Given the description of an element on the screen output the (x, y) to click on. 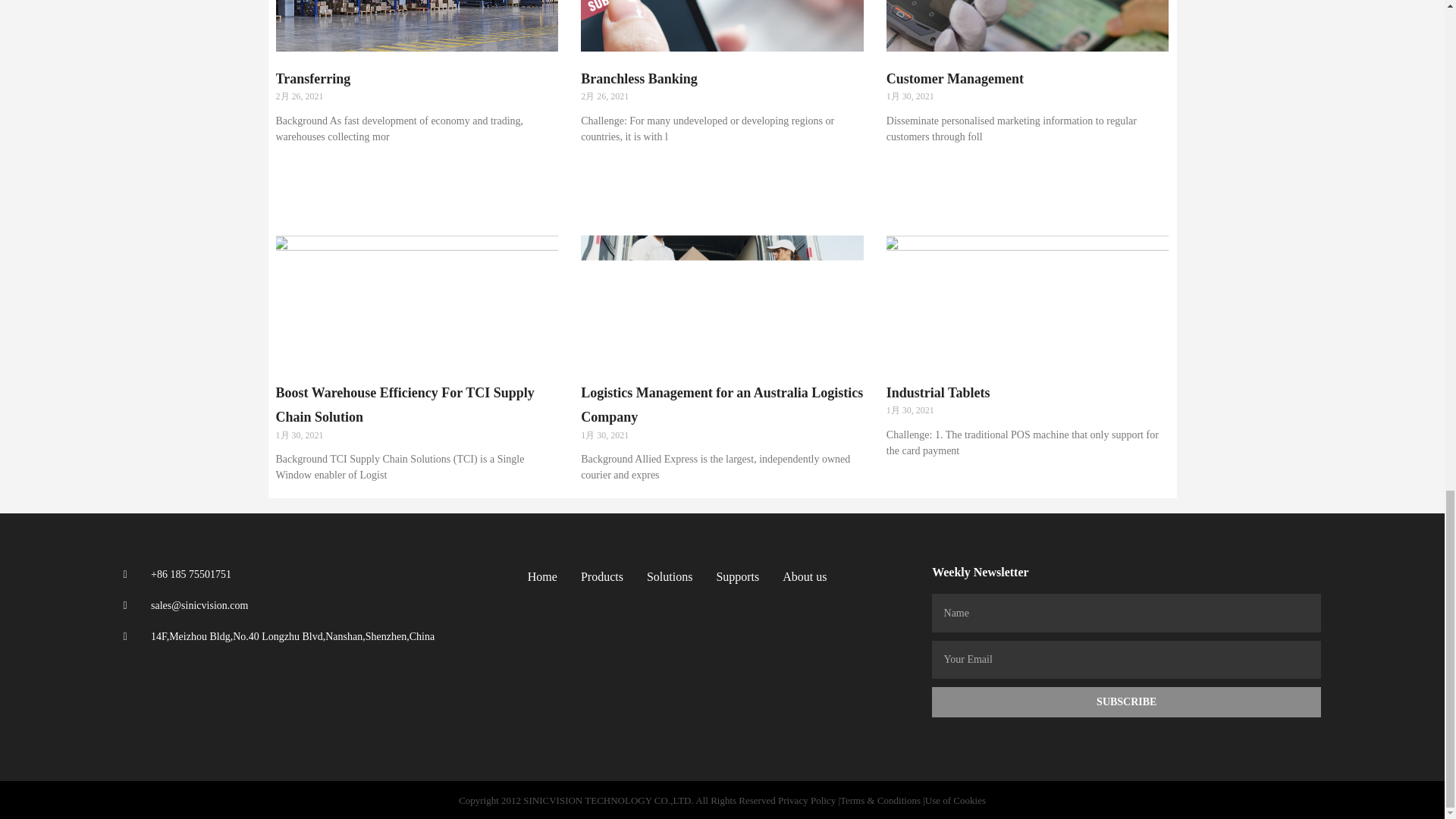
Branchless Banking (638, 78)
Boost Warehouse Efficiency For TCI Supply Chain Solution (405, 404)
Industrial Tablets (938, 392)
Products (601, 577)
Home (542, 577)
SUBSCRIBE (1125, 702)
Supports (737, 577)
Logistics Management for an Australia Logistics Company (721, 404)
Customer Management (954, 78)
About us (805, 577)
Transferring (313, 78)
Solutions (669, 577)
